Given the description of an element on the screen output the (x, y) to click on. 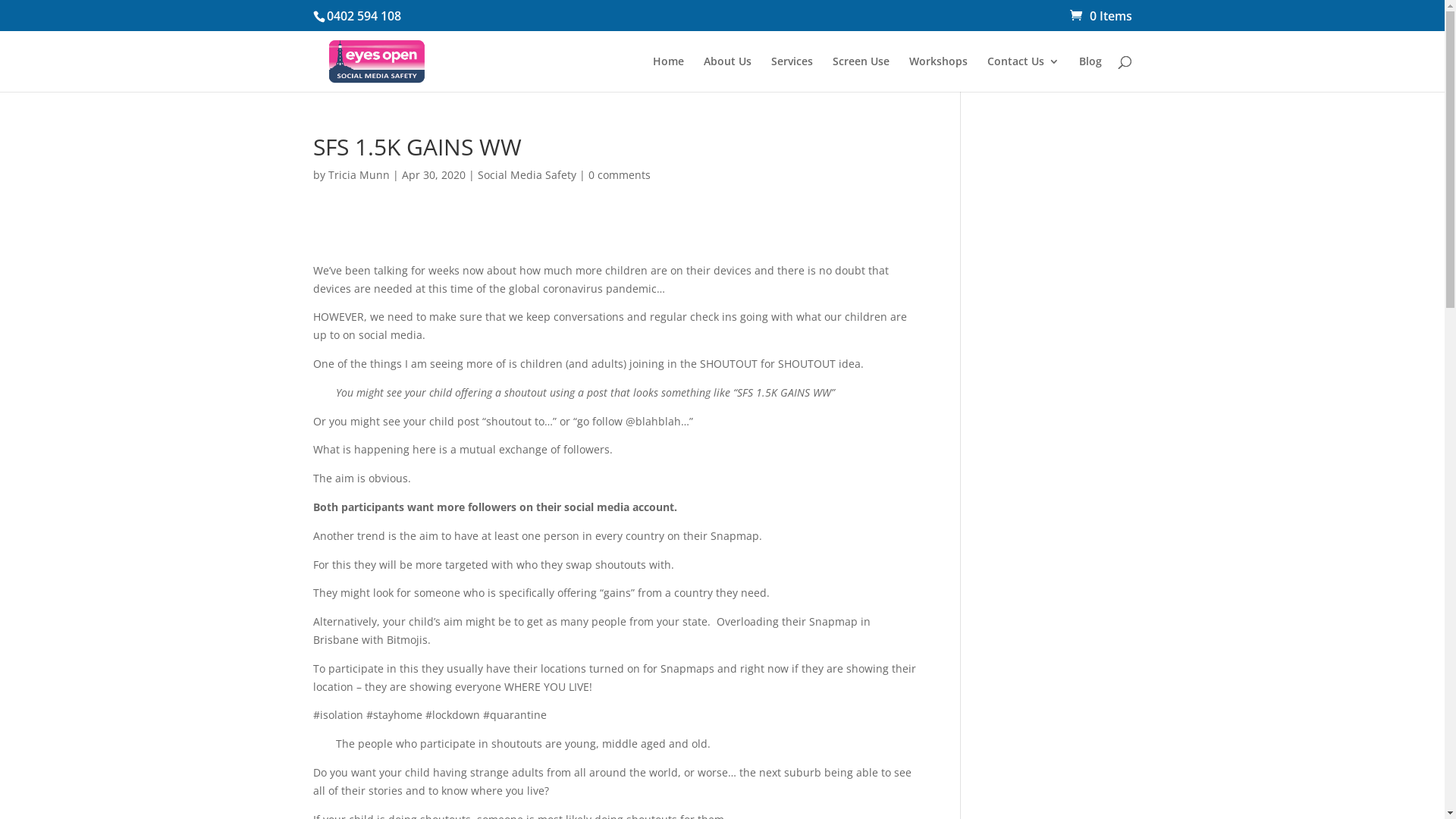
Workshops Element type: text (937, 73)
Blog Element type: text (1089, 73)
0 Items Element type: text (1100, 15)
0 comments Element type: text (619, 174)
Home Element type: text (667, 73)
Social Media Safety Element type: text (526, 174)
About Us Element type: text (727, 73)
Contact Us Element type: text (1023, 73)
Screen Use Element type: text (860, 73)
Tricia Munn Element type: text (358, 174)
Services Element type: text (791, 73)
